Given the description of an element on the screen output the (x, y) to click on. 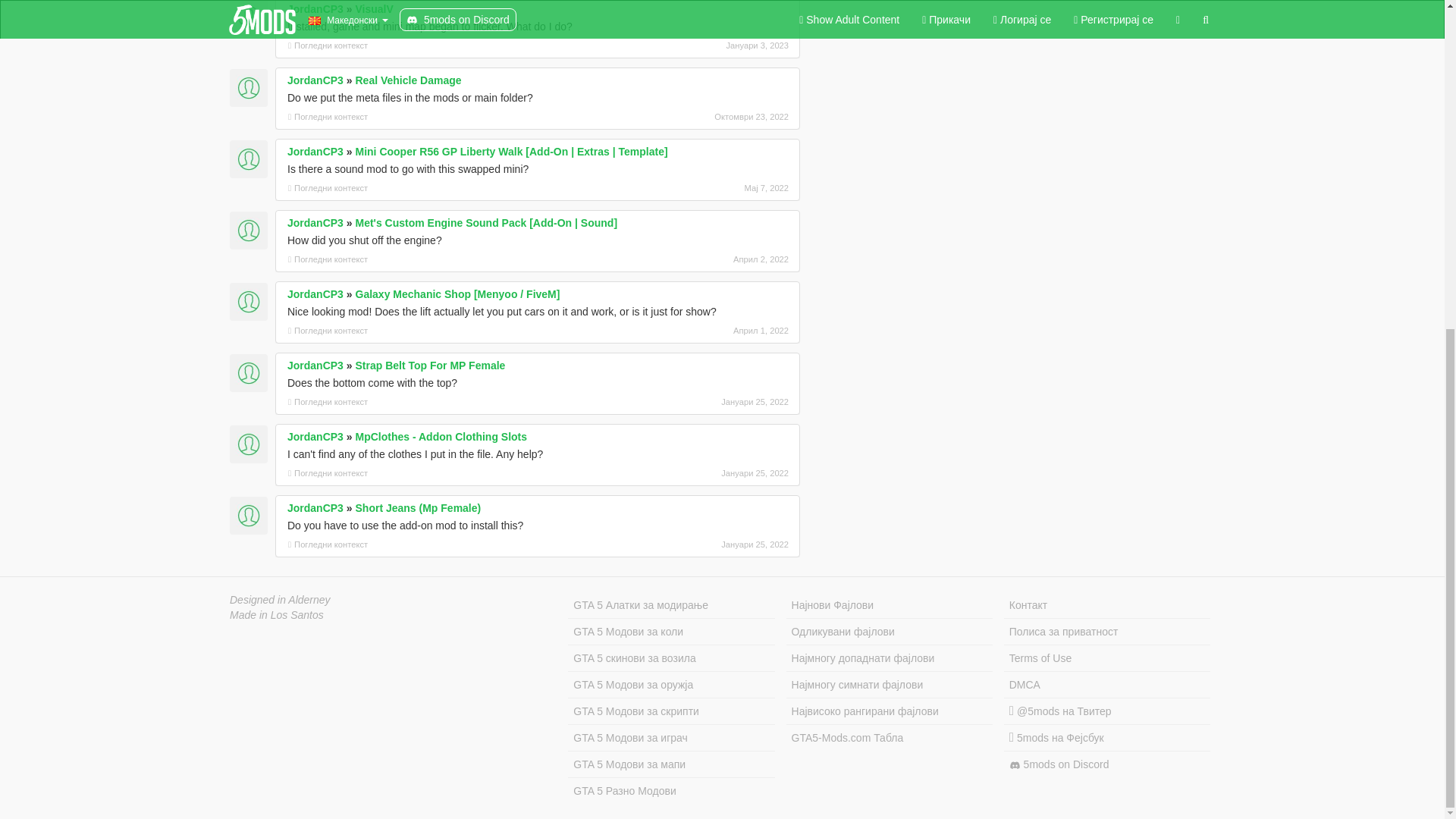
5mods on Discord (1106, 764)
